Given the description of an element on the screen output the (x, y) to click on. 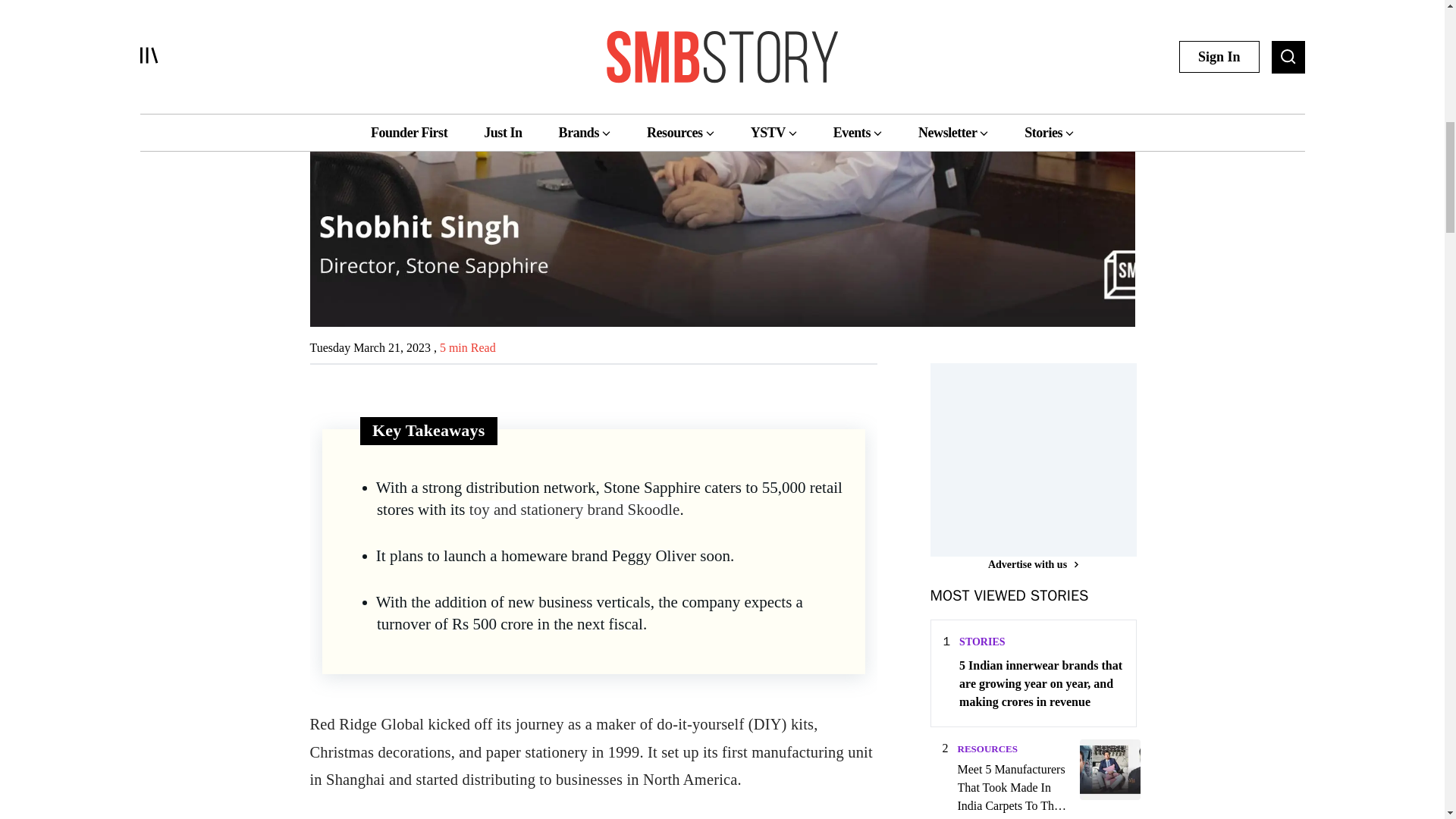
Advertise with us (1032, 564)
STORIES (981, 641)
RESOURCES (986, 748)
3rd party ad content (1043, 457)
